Given the description of an element on the screen output the (x, y) to click on. 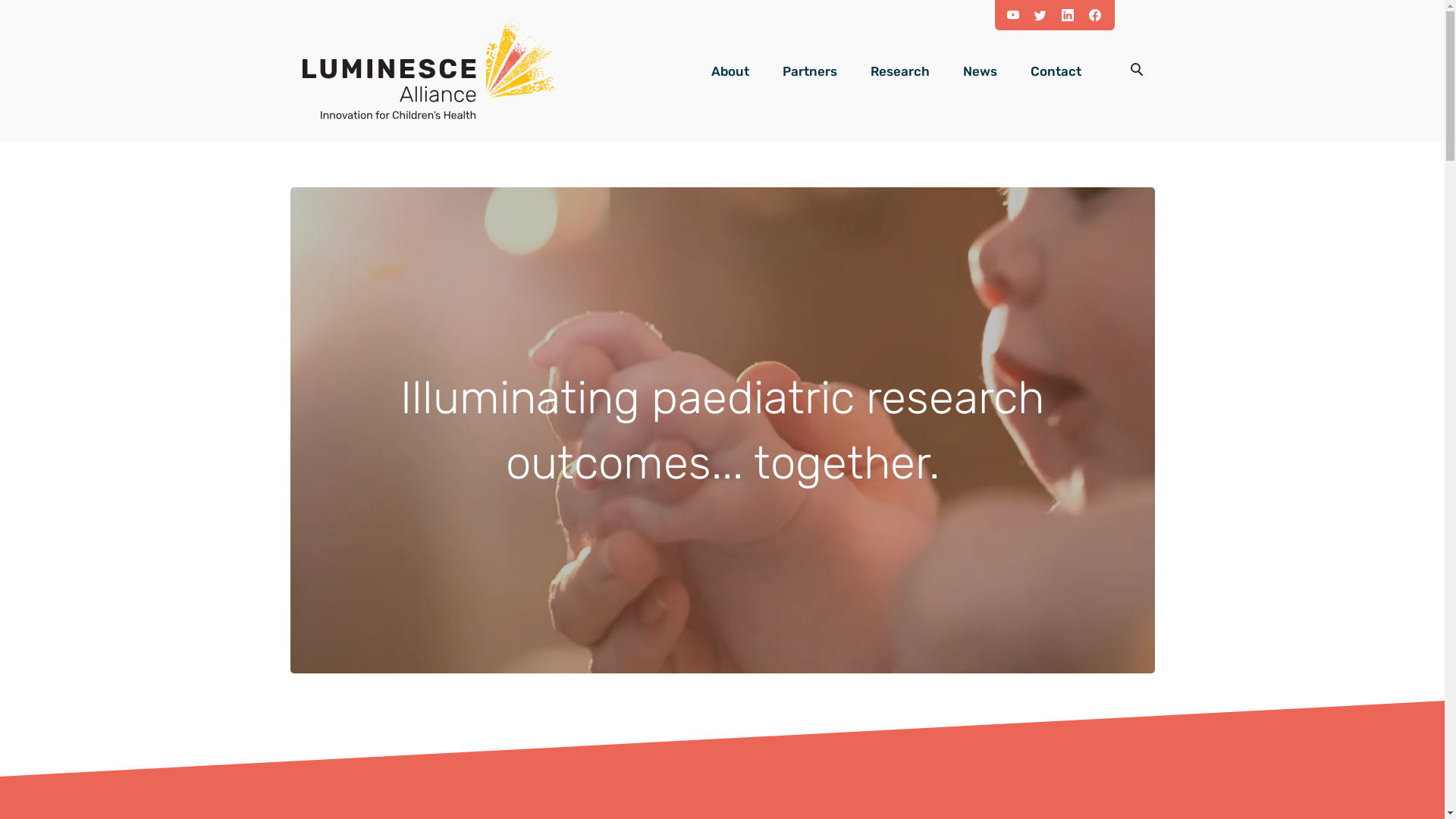
Overview Element type: text (798, 113)
News Element type: text (980, 70)
About Element type: text (730, 70)
Group 2 Created with Sketch. Element type: text (1135, 71)
Governance Element type: text (798, 144)
Linkedin Element type: hover (1073, 14)
Youtube Element type: hover (1018, 14)
Facebook Element type: hover (1100, 14)
Twitter Element type: hover (1045, 14)
Reports and Resources Element type: text (1050, 144)
Contact Element type: text (1054, 70)
Partners Element type: text (809, 70)
Our Impact Element type: text (1050, 113)
Research Element type: text (899, 70)
